Given the description of an element on the screen output the (x, y) to click on. 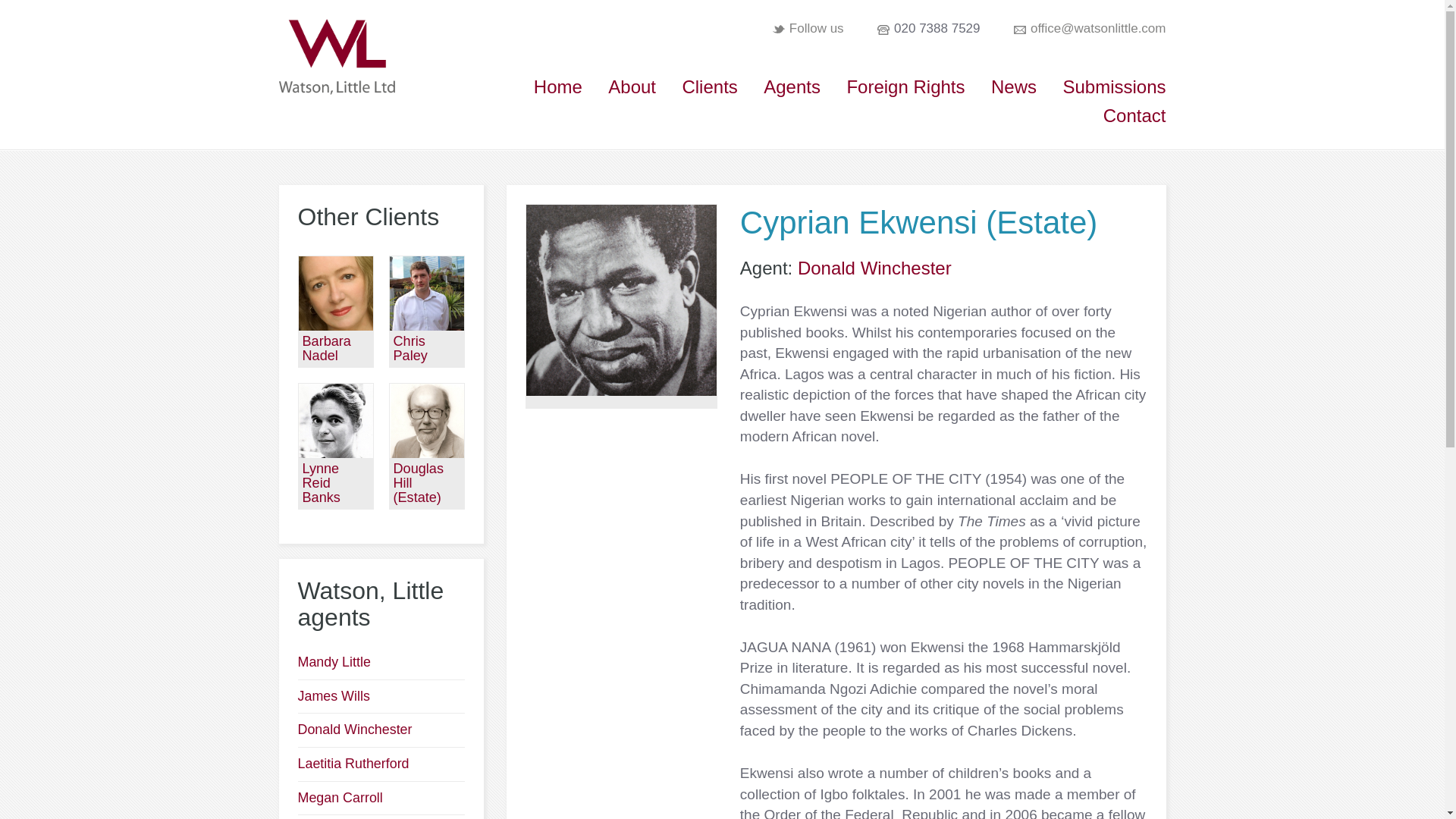
News (1013, 86)
Chris Paley (427, 291)
About (632, 86)
Home (558, 86)
Donald Winchester (354, 729)
Barbara Nadel (325, 348)
Contact (1134, 115)
Laetitia Rutherford (353, 763)
James Wills (333, 695)
Donald Winchester (874, 267)
Lynne Reid Banks (335, 419)
Barbara Nadel (335, 291)
Chris Paley (409, 348)
Mandy Little (333, 661)
Follow us (816, 28)
